Given the description of an element on the screen output the (x, y) to click on. 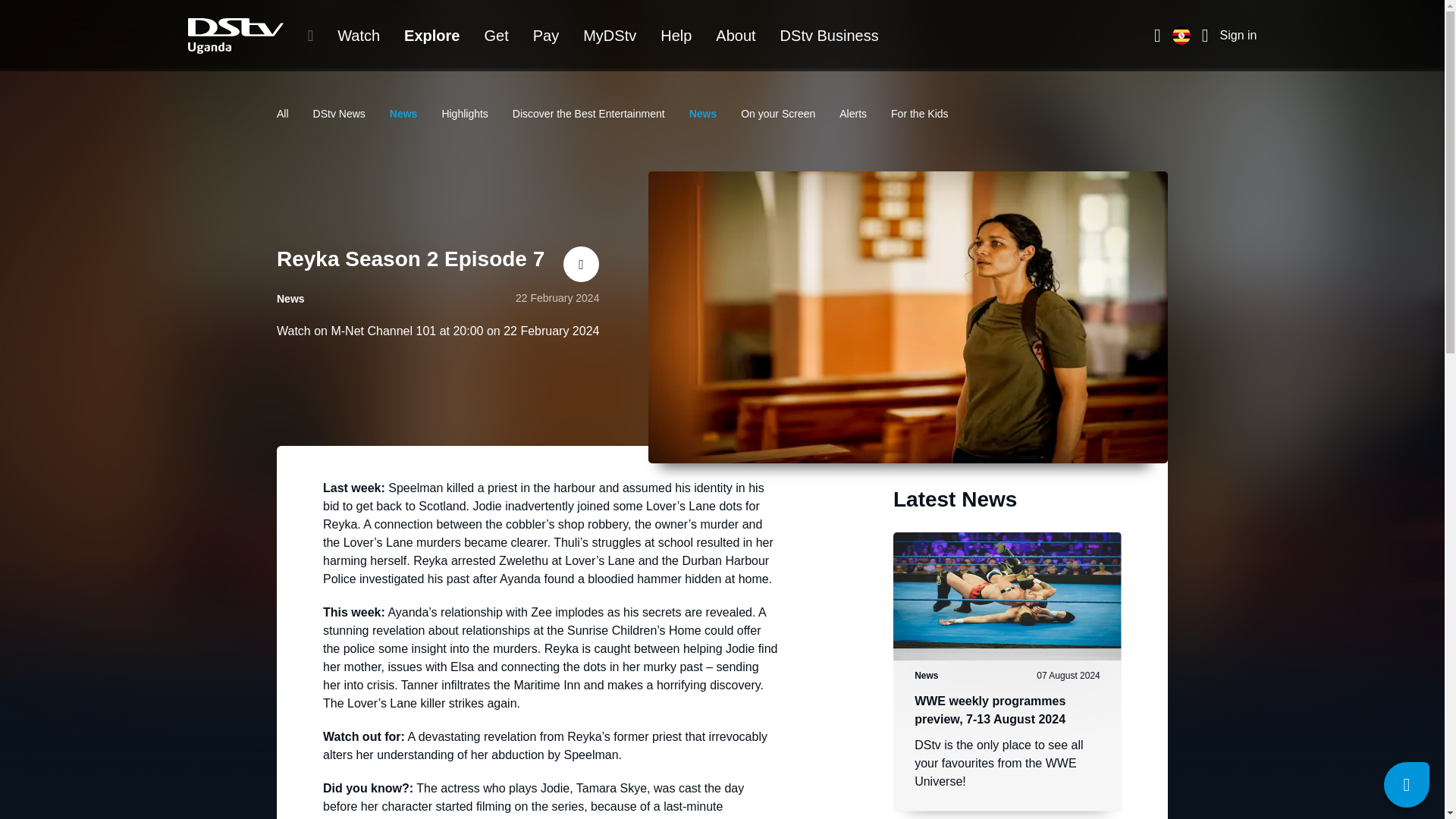
DStv News (339, 113)
Alerts (853, 113)
For the Kids (919, 113)
Highlights (464, 113)
News (702, 113)
All (282, 113)
On your Screen (778, 113)
Discover the Best Entertainment (588, 113)
News (403, 113)
